Given the description of an element on the screen output the (x, y) to click on. 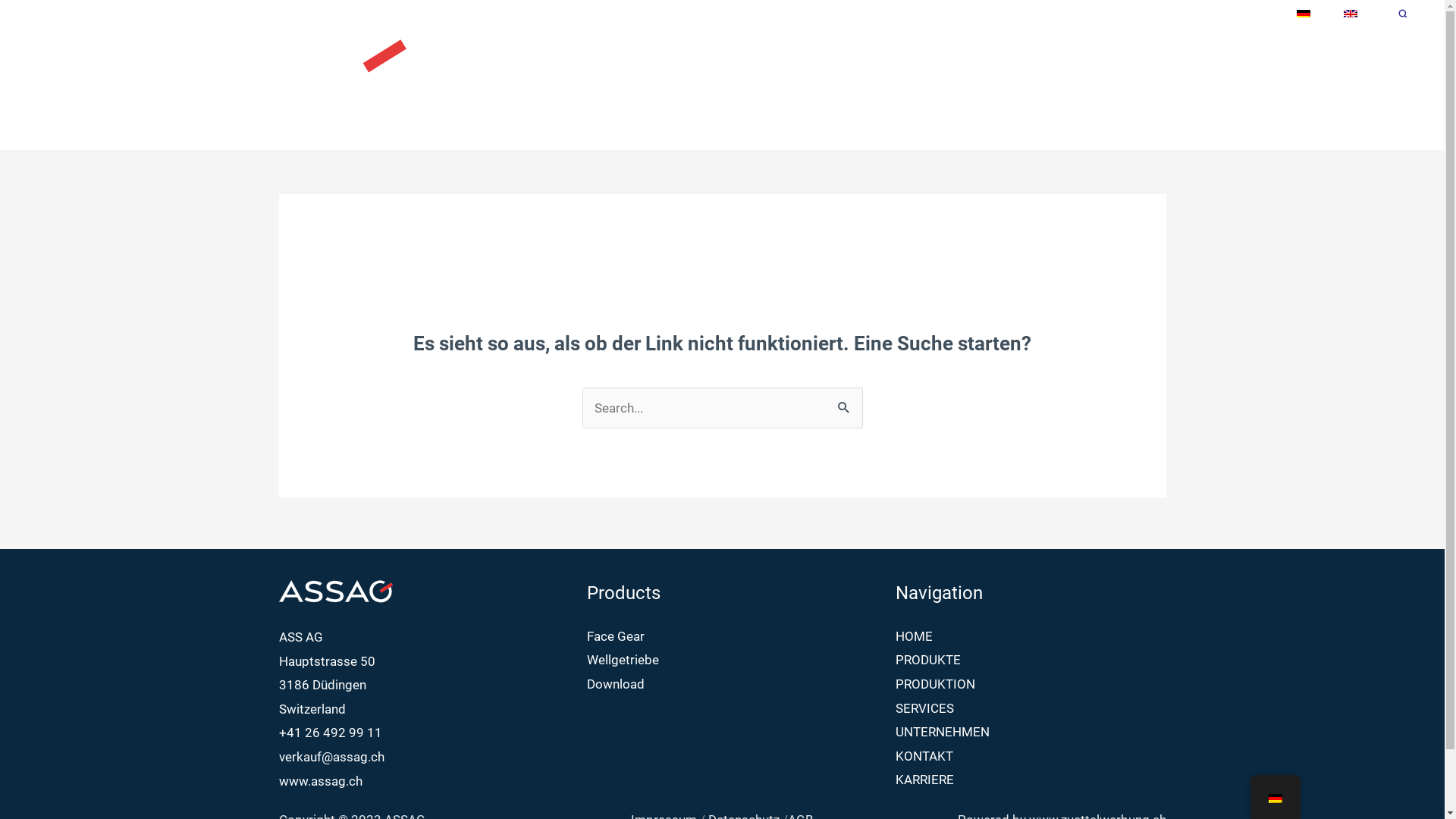
SERVICES Element type: text (924, 707)
HOME Element type: text (913, 635)
www.assag.ch Element type: text (320, 780)
KARRIERE Element type: text (924, 779)
Wellgetriebe Element type: text (622, 659)
PRODUKTION Element type: text (986, 83)
Download Element type: text (615, 683)
HOME Element type: text (809, 83)
Suche Element type: text (845, 405)
Suche Element type: text (1403, 14)
verkauf@assag.ch Element type: text (331, 756)
Face Gear Element type: text (615, 635)
English Element type: hover (1350, 13)
PRODUKTION Element type: text (935, 683)
SERVICES Element type: text (1082, 83)
UNTERNEHMEN Element type: text (942, 731)
KONTAKT Element type: text (924, 755)
+41 26 492 99 11 Element type: text (330, 732)
German Element type: hover (1274, 798)
UNTERNEHMEN Element type: text (1185, 83)
KONTAKT Element type: text (1288, 83)
German Element type: hover (1303, 13)
KARRIERE Element type: text (1374, 83)
PRODUKTE Element type: text (886, 83)
PRODUKTE Element type: text (927, 659)
